Given the description of an element on the screen output the (x, y) to click on. 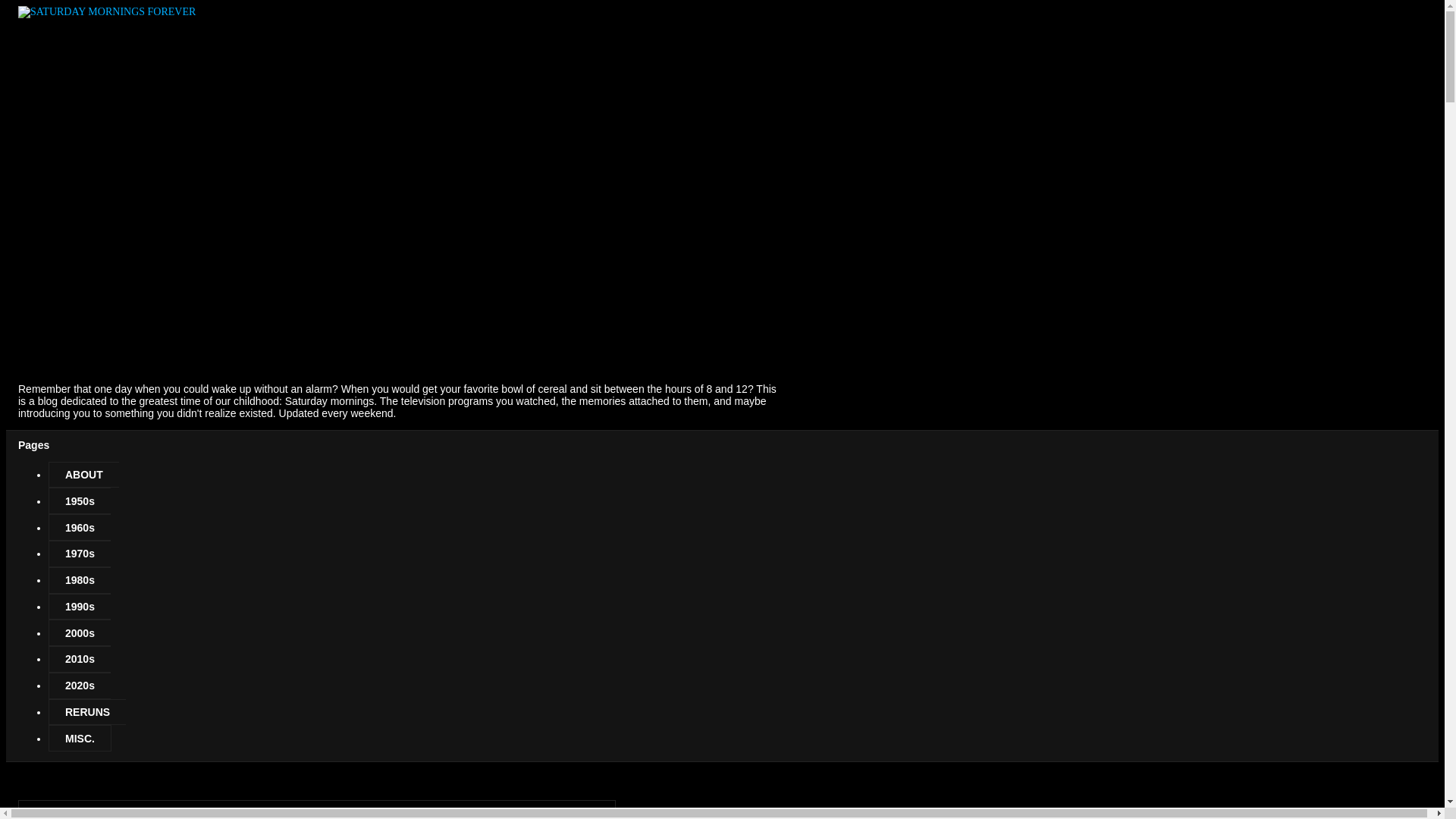
2020s (79, 685)
1950s (79, 500)
RERUNS (86, 712)
2010s (79, 659)
1990s (79, 606)
ABOUT (83, 474)
1960s (79, 527)
MISC. (80, 737)
2000s (79, 632)
1970s (79, 553)
1980s (79, 580)
